Given the description of an element on the screen output the (x, y) to click on. 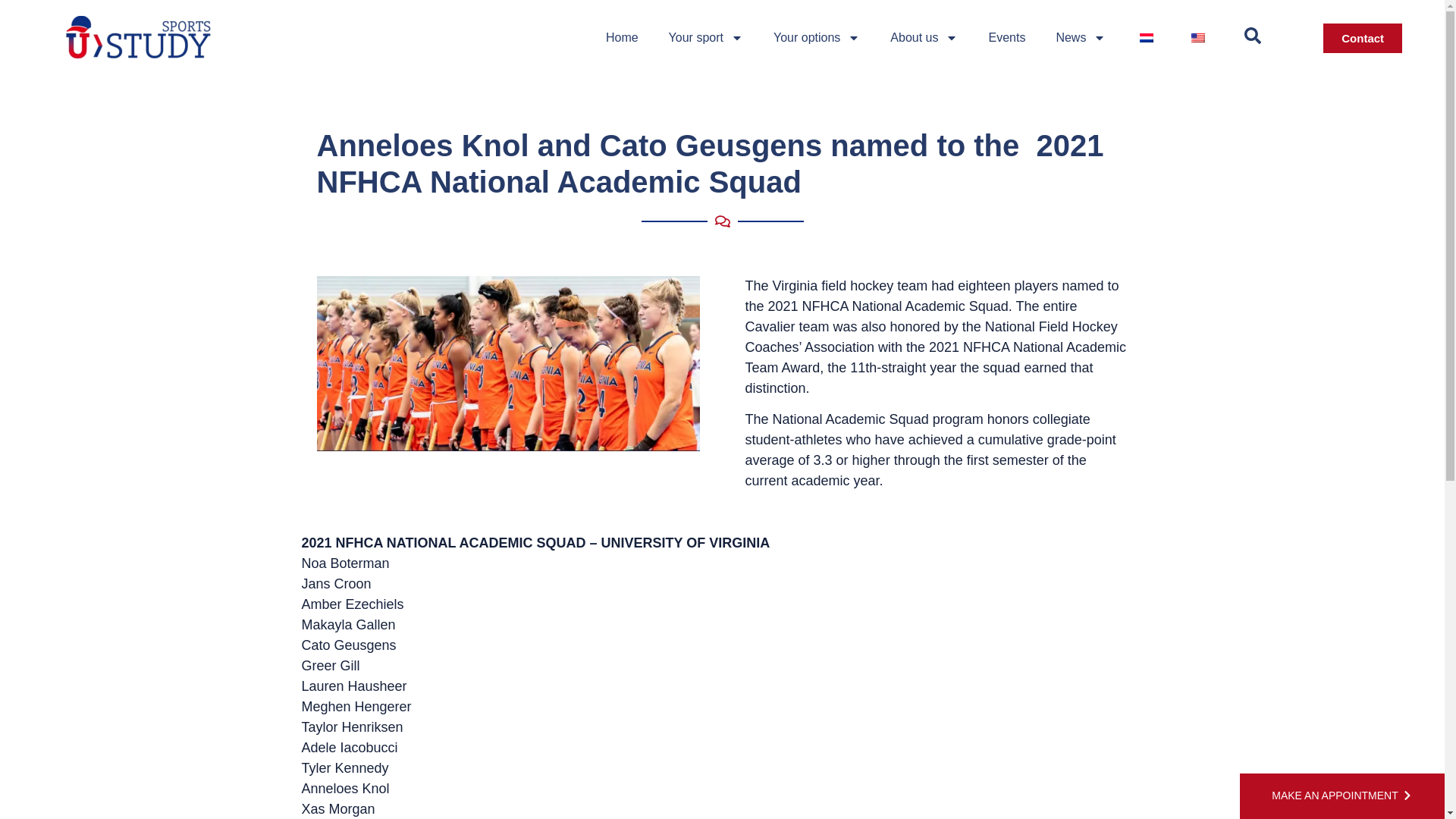
English (1198, 37)
Dutch (1146, 37)
Home (622, 38)
Your options (816, 38)
Your sport (705, 38)
